Given the description of an element on the screen output the (x, y) to click on. 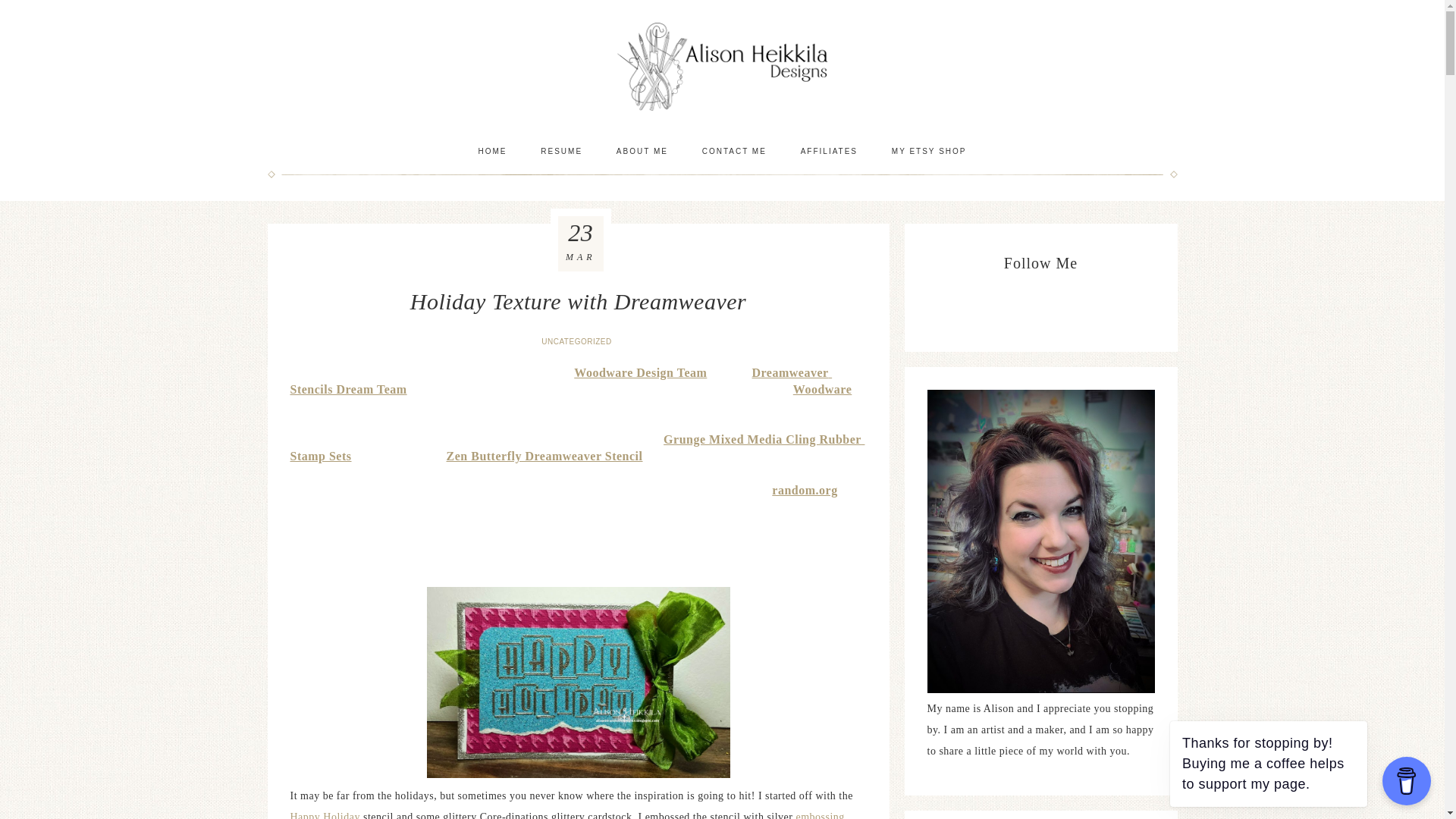
AFFILIATES (829, 151)
Zen Butterfly Dreamweaver Stencil (544, 456)
Woodware (822, 389)
Grunge Mixed Media Cling Rubber Stamp Sets (576, 448)
Woodware Design Team (639, 373)
Happy Holiday (324, 815)
ABOUT ME (641, 151)
ALISON HEIKKILA DESIGNS (722, 65)
MY ETSY SHOP (928, 151)
HOME (492, 151)
